Given the description of an element on the screen output the (x, y) to click on. 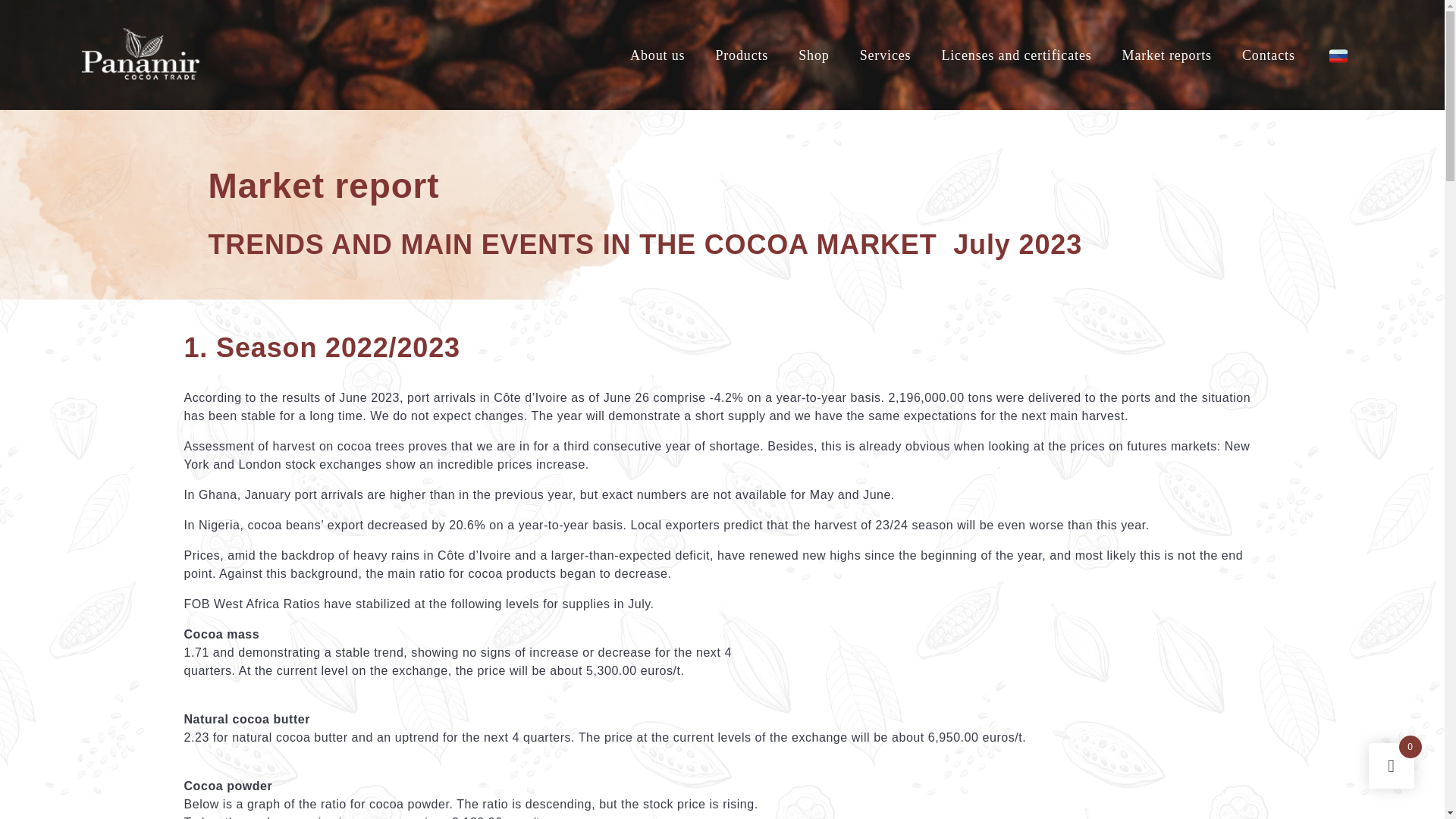
Market reports (1167, 54)
About us (658, 54)
Shop (812, 54)
Licenses and certificates (1016, 54)
Services (884, 54)
Products (741, 54)
Contacts (1268, 54)
